Given the description of an element on the screen output the (x, y) to click on. 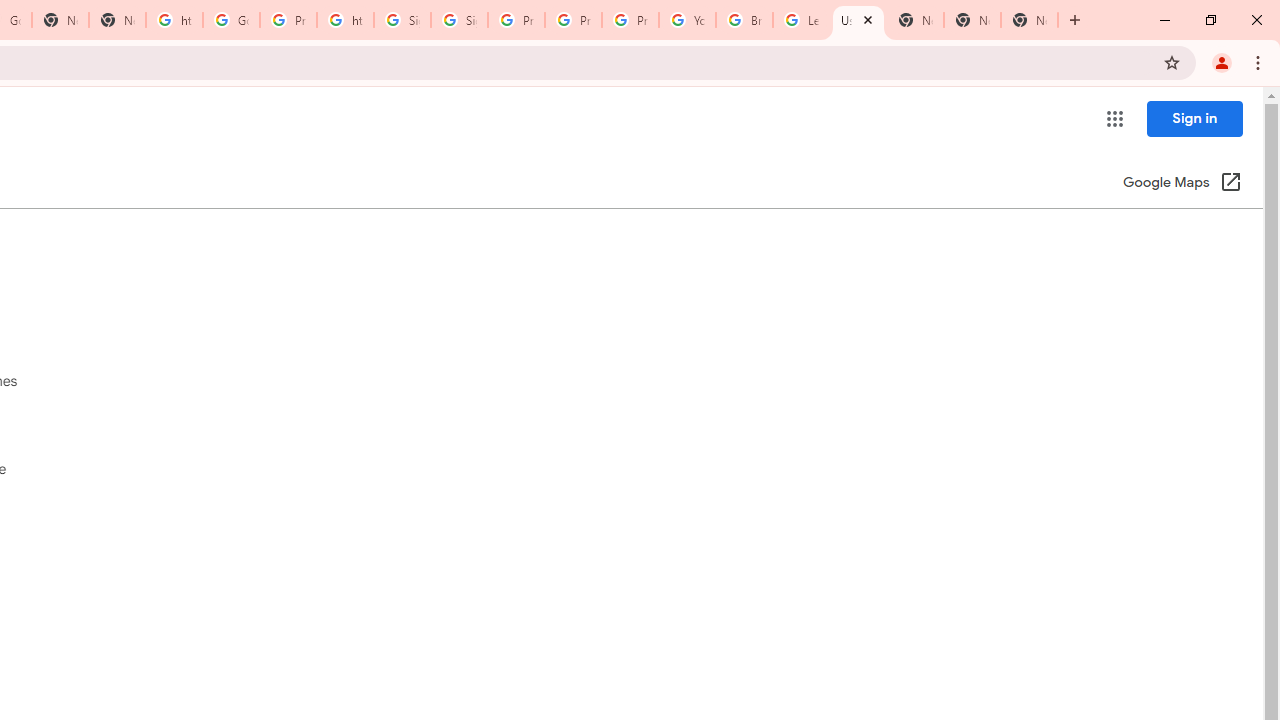
Sign in - Google Accounts (459, 20)
https://scholar.google.com/ (174, 20)
Privacy Help Center - Policies Help (516, 20)
https://scholar.google.com/ (345, 20)
New Tab (1029, 20)
Privacy Help Center - Policies Help (573, 20)
New Tab (971, 20)
